Given the description of an element on the screen output the (x, y) to click on. 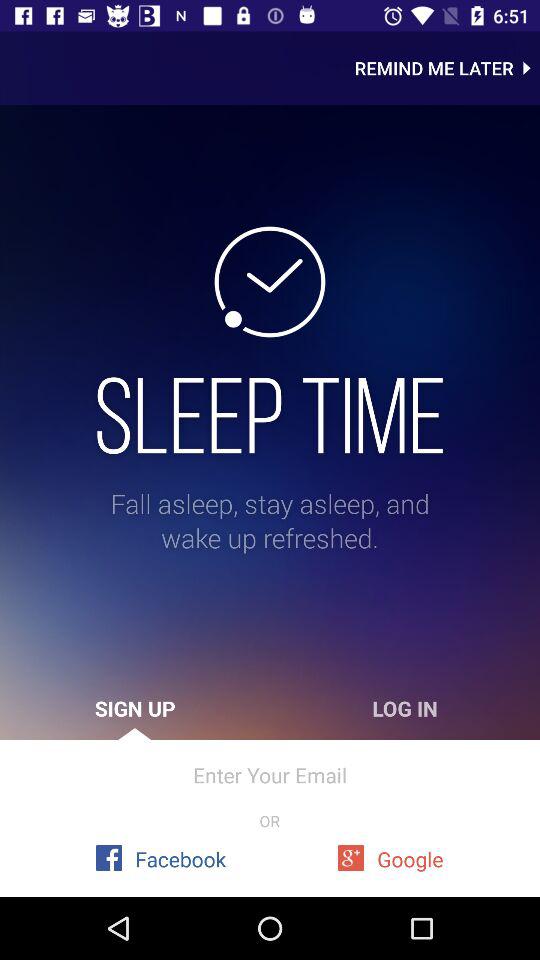
flip to the sign up (135, 707)
